Given the description of an element on the screen output the (x, y) to click on. 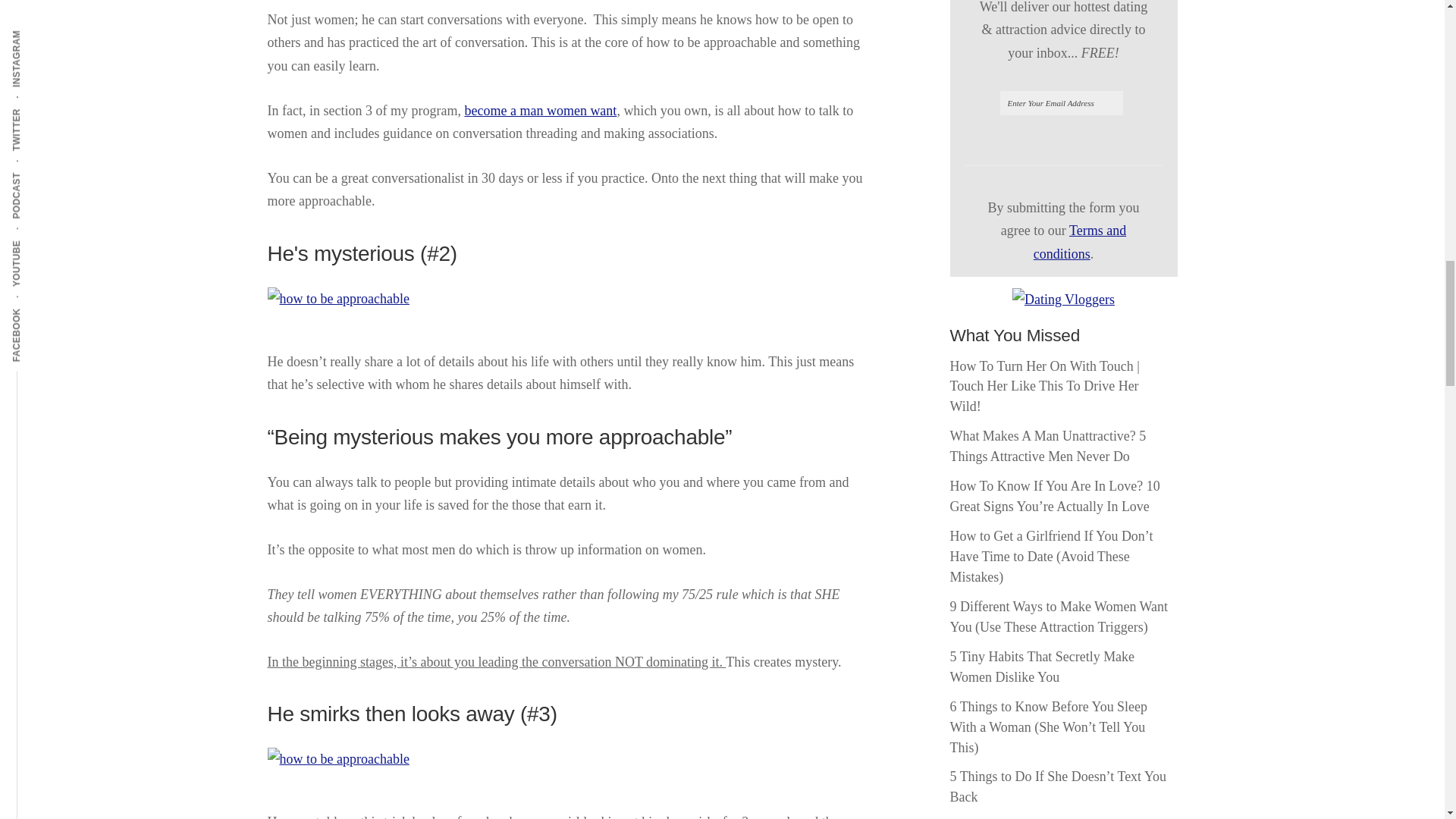
become a man women want (539, 110)
13 Best Dating Vloggers of 2014 (1063, 300)
Enter Your Email Address (1060, 102)
